Given the description of an element on the screen output the (x, y) to click on. 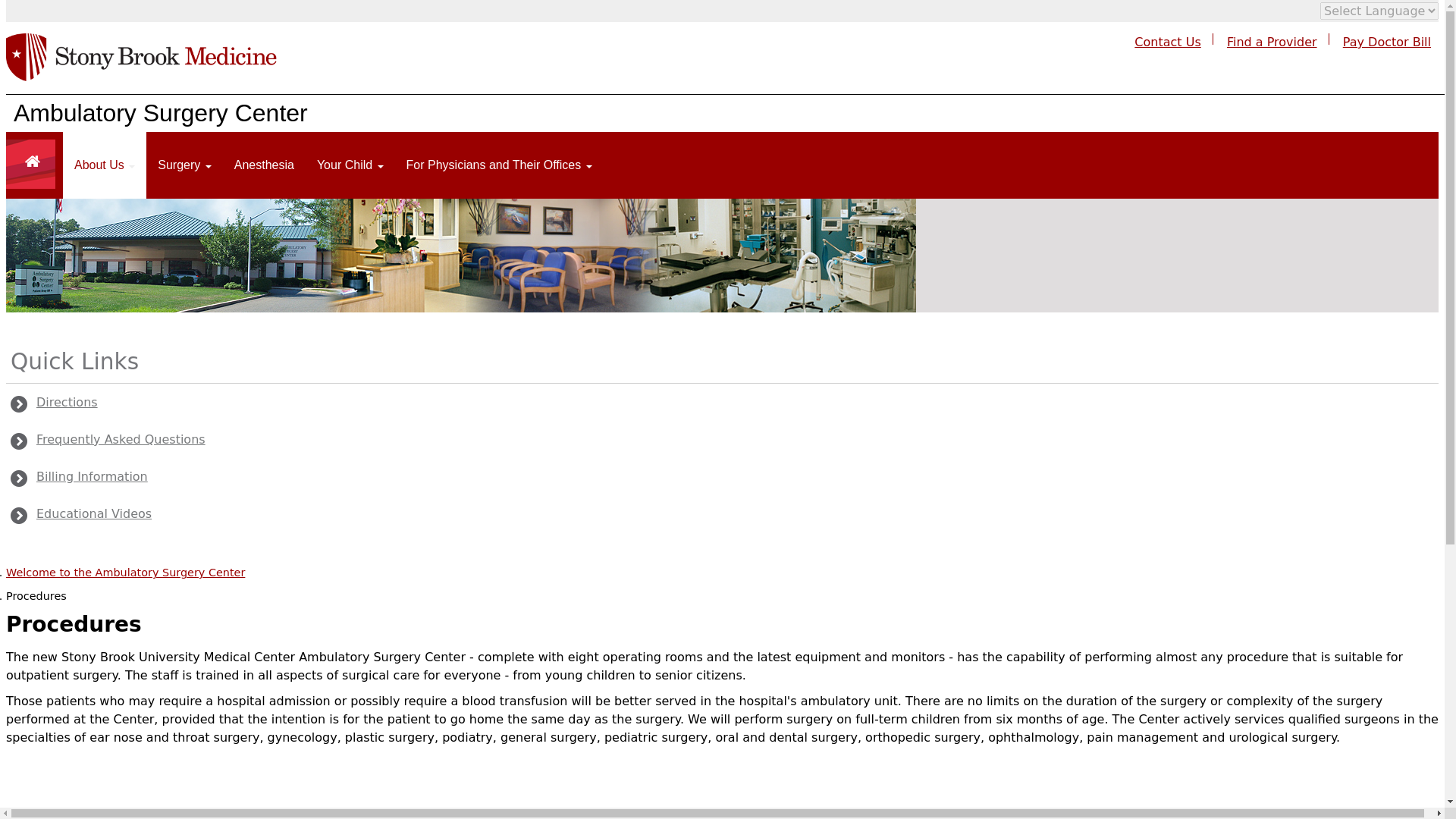
About Us (104, 165)
Ambulatory Surgery Center (160, 112)
Surgery (184, 165)
FAQs (108, 439)
Directions (54, 402)
Home (140, 63)
Anesthesia (263, 165)
Pay Doctor Bill (1386, 42)
Billing Information (80, 477)
Contact Us (1166, 42)
For Physicians and Their Offices (499, 165)
Find a Provider (1272, 42)
